Given the description of an element on the screen output the (x, y) to click on. 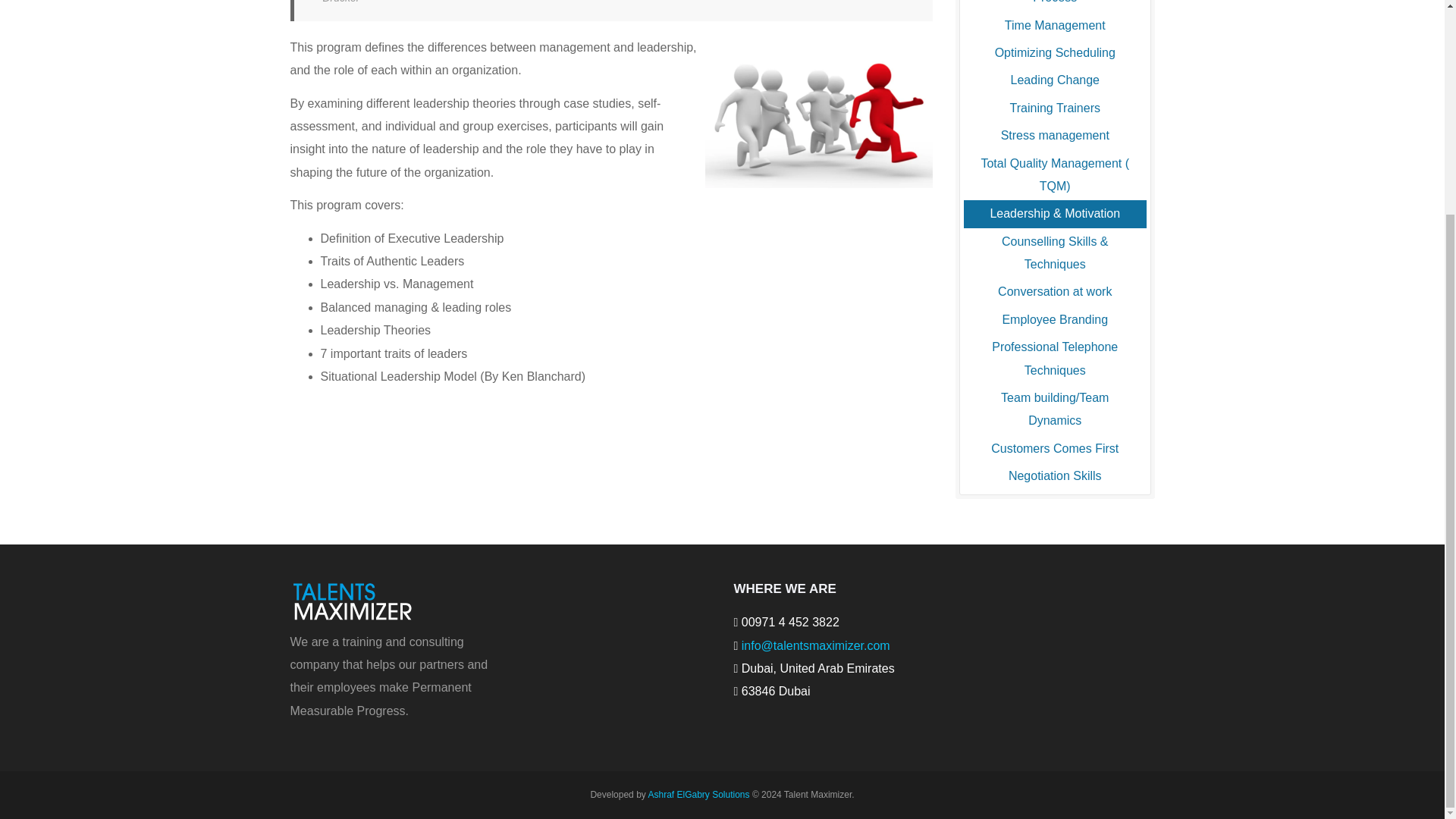
Training Trainers (1055, 108)
Performance Management Process (1055, 6)
Leading Change (1055, 80)
Stress management (1055, 135)
Optimizing Scheduling (1055, 52)
Time Management (1055, 25)
